Given the description of an element on the screen output the (x, y) to click on. 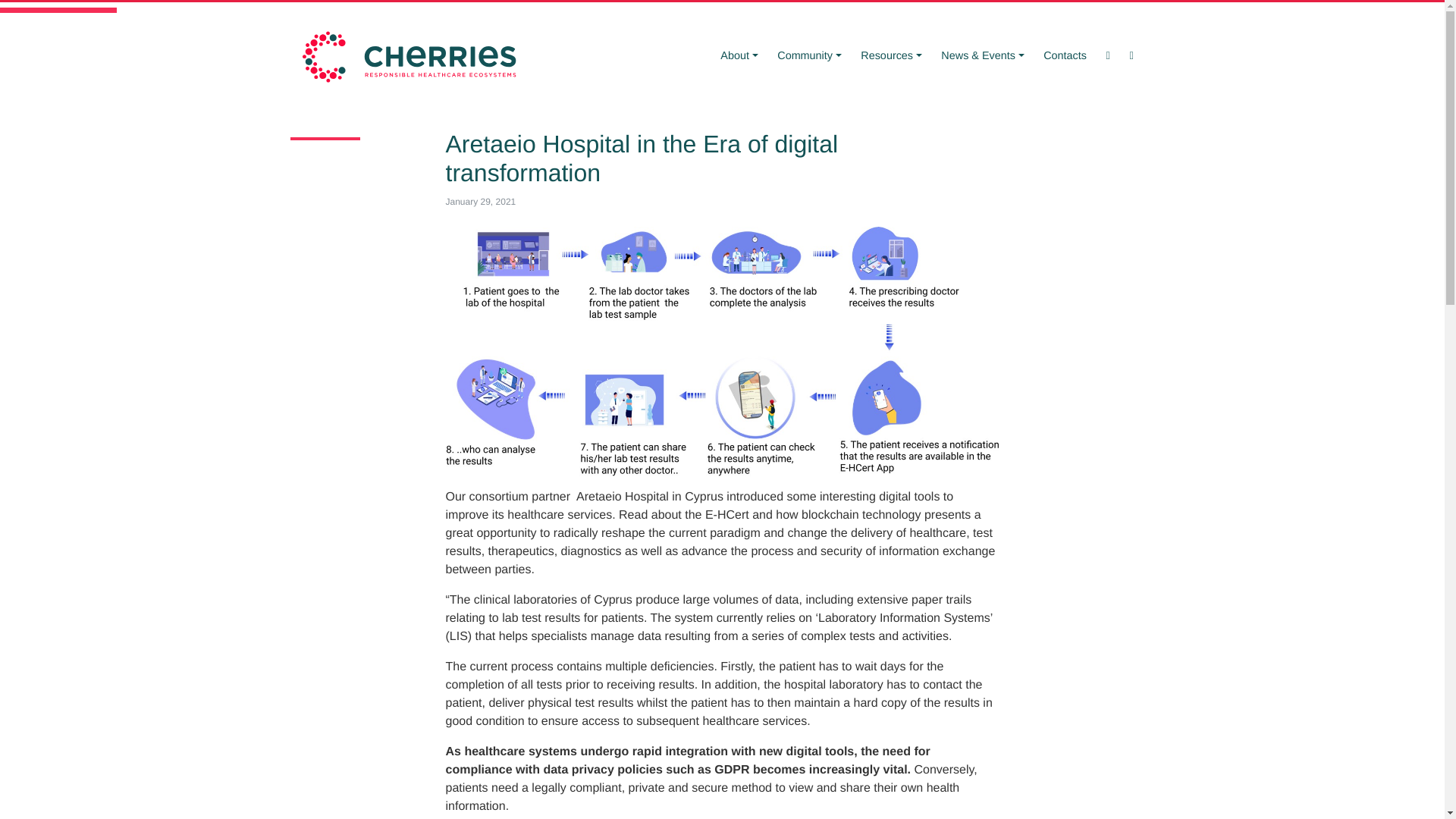
Community (808, 56)
January 29, 2021 (480, 201)
About (739, 56)
Resources (890, 56)
Resources (890, 56)
Community (808, 56)
About (739, 56)
Contacts (1064, 56)
